Given the description of an element on the screen output the (x, y) to click on. 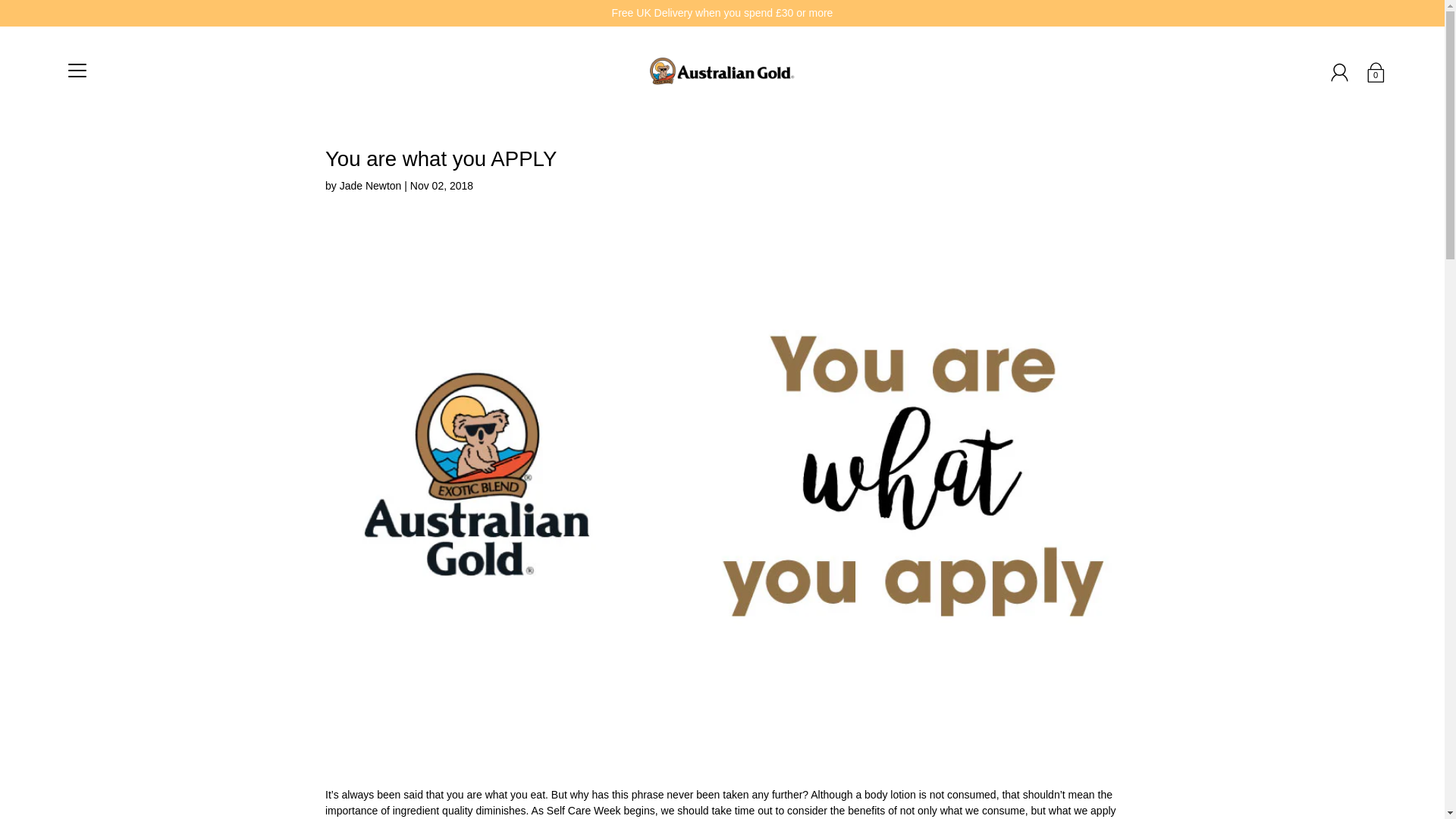
0 (1374, 71)
